Given the description of an element on the screen output the (x, y) to click on. 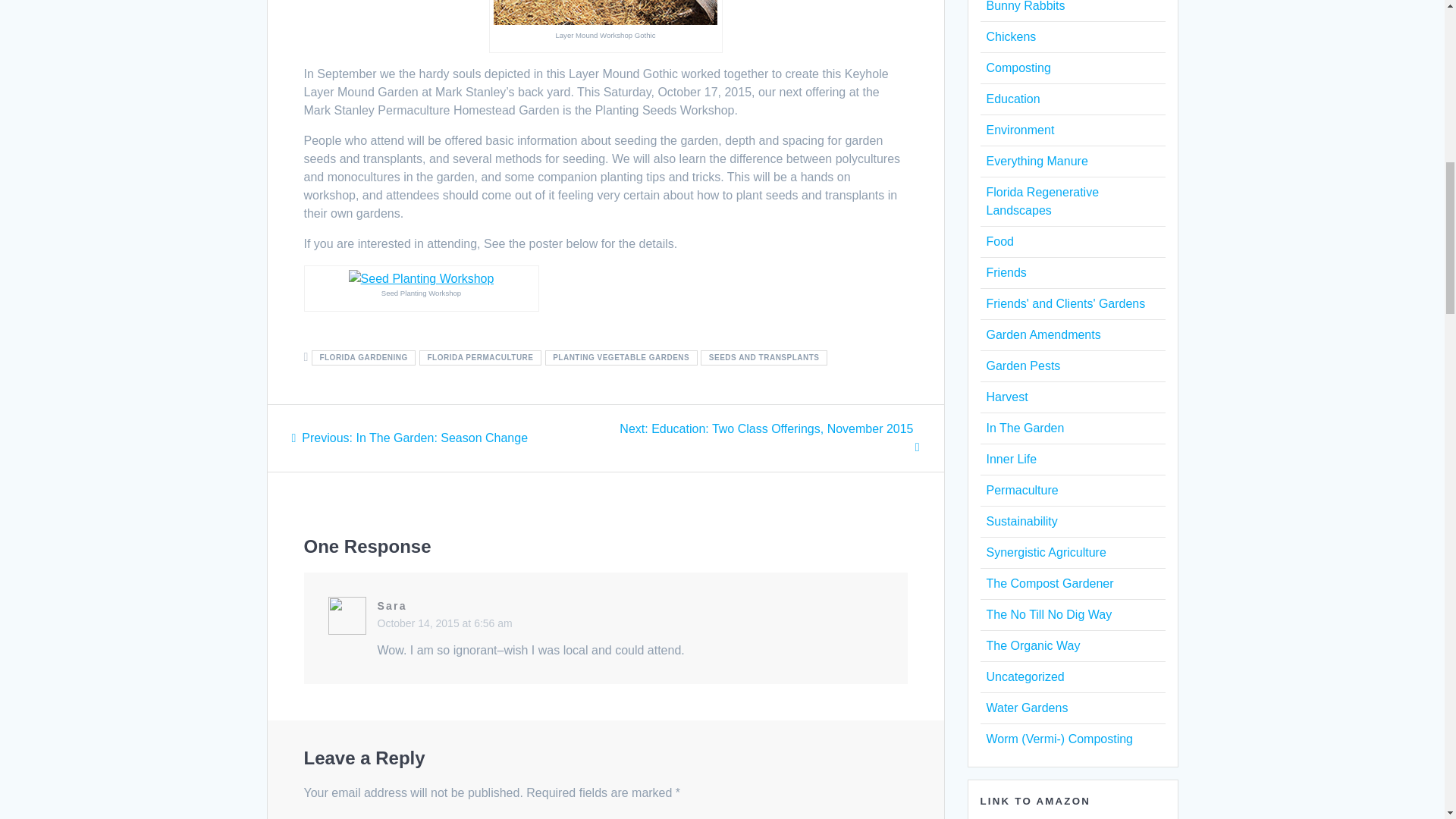
October 14, 2015 at 6:56 am (444, 623)
Chickens (1010, 36)
SEEDS AND TRANSPLANTS (763, 357)
Composting (409, 437)
FLORIDA GARDENING (1017, 67)
PLANTING VEGETABLE GARDENS (363, 357)
Environment (620, 357)
FLORIDA PERMACULTURE (1019, 129)
Education (480, 357)
Bunny Rabbits (1012, 98)
